Given the description of an element on the screen output the (x, y) to click on. 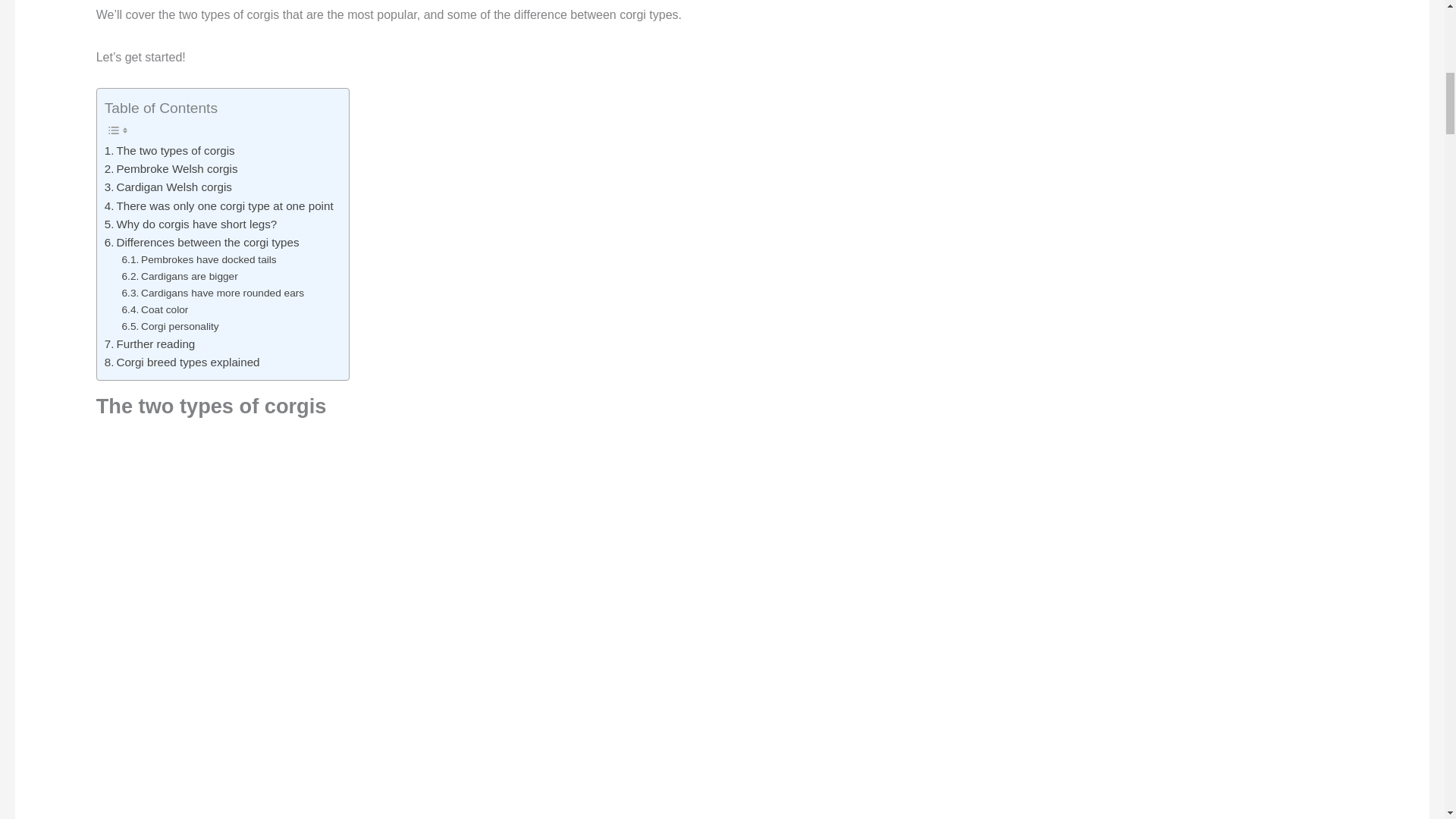
Why do corgis have short legs? (191, 224)
Why do corgis have short legs? (191, 224)
Cardigans have more rounded ears (213, 293)
Further reading (149, 343)
Coat color (155, 310)
Coat color (155, 310)
Cardigans are bigger (180, 276)
Pembrokes have docked tails (199, 259)
The two types of corgis (169, 150)
Corgi personality (170, 326)
The two types of corgis (169, 150)
Pembroke Welsh corgis (171, 168)
Cardigans have more rounded ears (213, 293)
Further reading (149, 343)
Corgi breed types explained (182, 361)
